Given the description of an element on the screen output the (x, y) to click on. 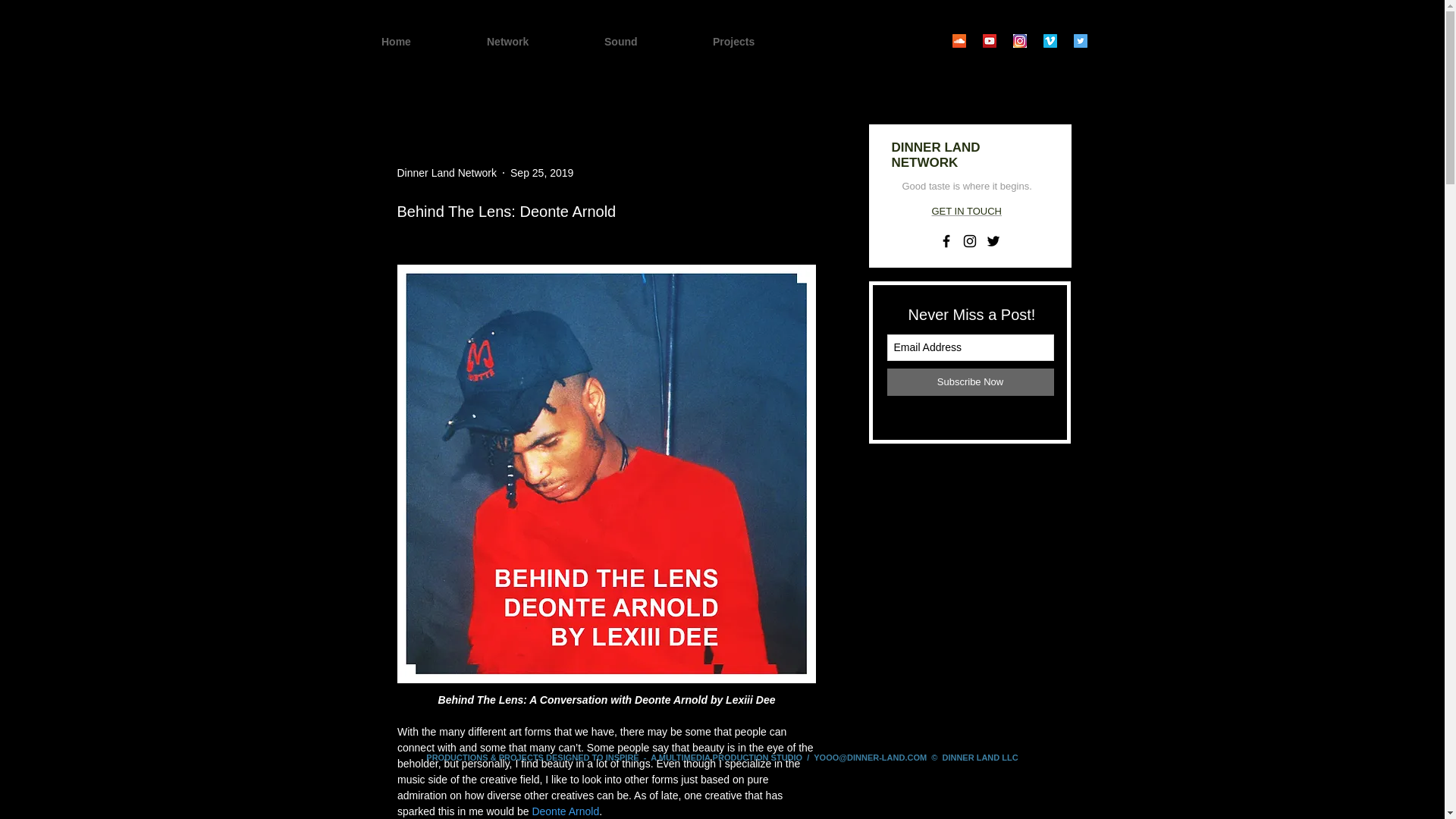
Home (423, 41)
Network (535, 41)
Dinner Land Network (447, 172)
Sound (647, 41)
Sep 25, 2019 (542, 173)
